Given the description of an element on the screen output the (x, y) to click on. 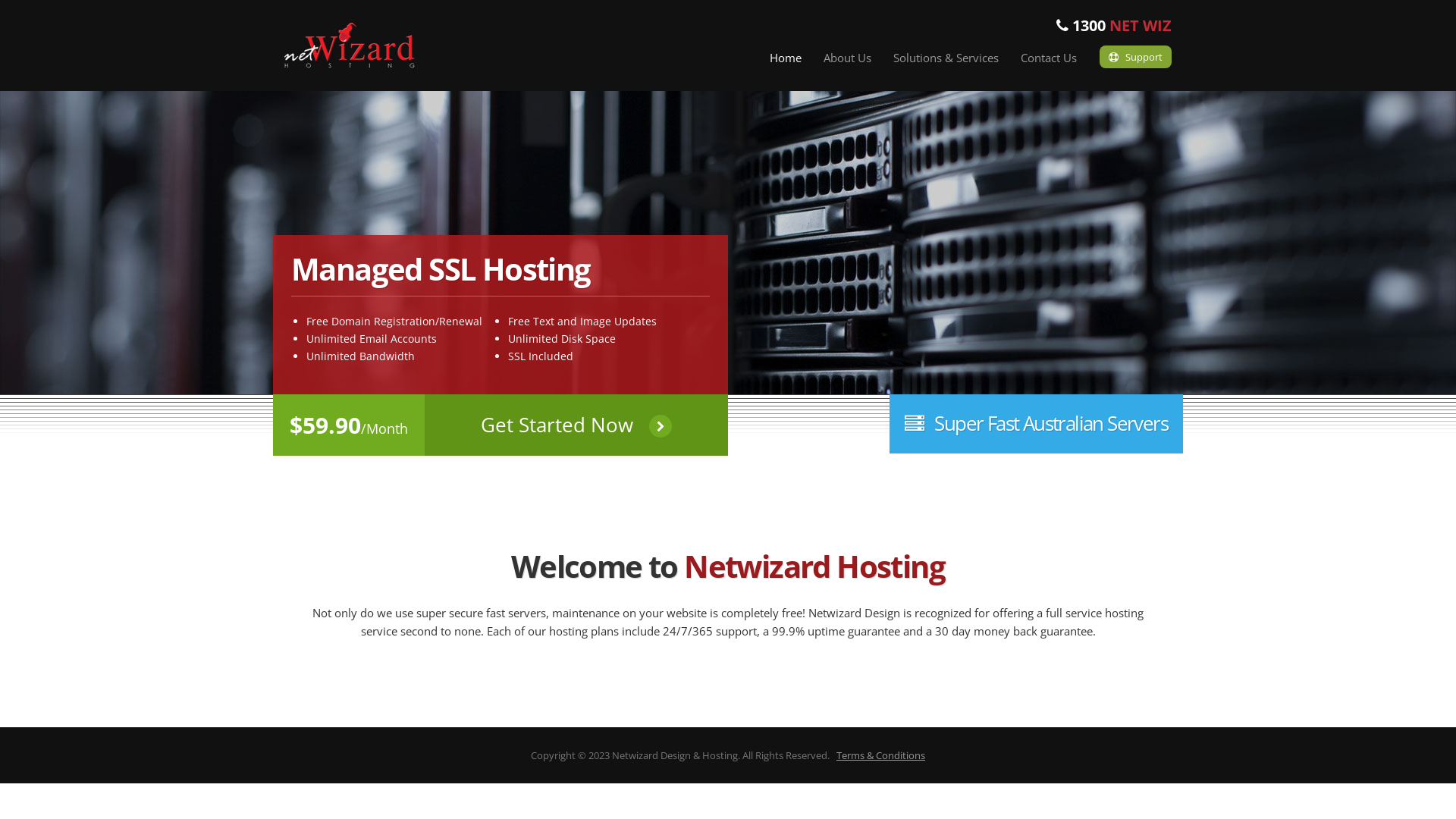
Terms & Conditions Element type: text (880, 755)
Contact Us Element type: text (1048, 57)
About Us Element type: text (847, 57)
Solutions & Services Element type: text (945, 57)
Get Started Now   Element type: text (576, 424)
Home Element type: text (785, 57)
  Support Element type: text (1135, 56)
